Given the description of an element on the screen output the (x, y) to click on. 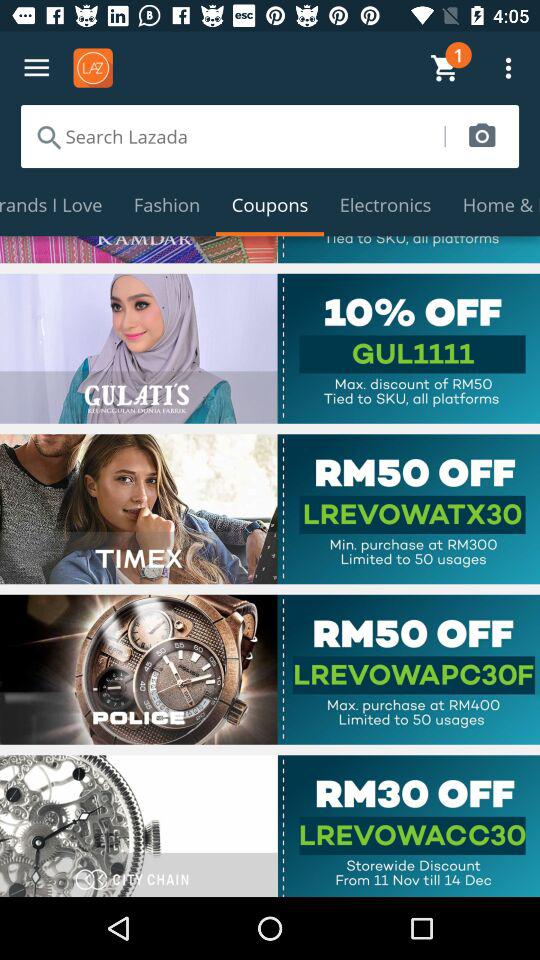
code for purchases (270, 669)
